Given the description of an element on the screen output the (x, y) to click on. 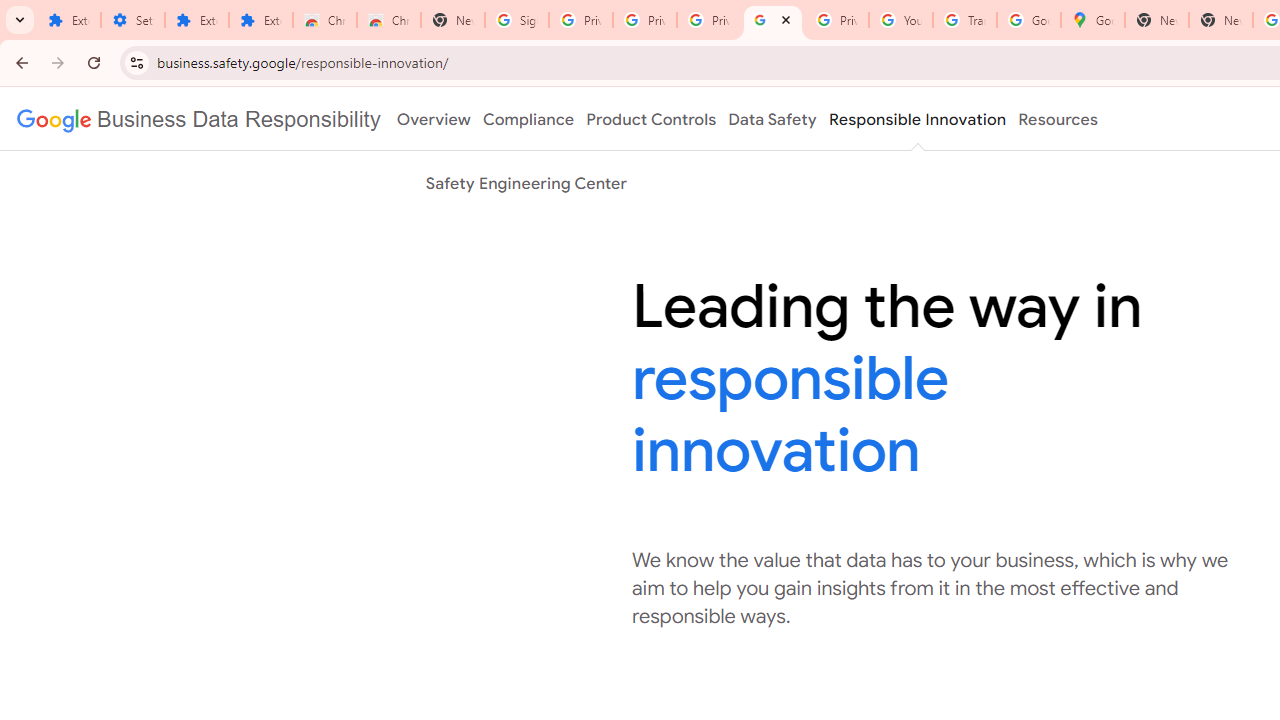
New Tab (453, 20)
Safety Engineering Center (526, 183)
System (10, 11)
Chrome Web Store - Themes (389, 20)
Settings (133, 20)
Extensions (197, 20)
Compliance (528, 119)
Overview (433, 119)
Google logo (198, 119)
Extensions (69, 20)
Reload (93, 62)
Google Maps (1093, 20)
